Given the description of an element on the screen output the (x, y) to click on. 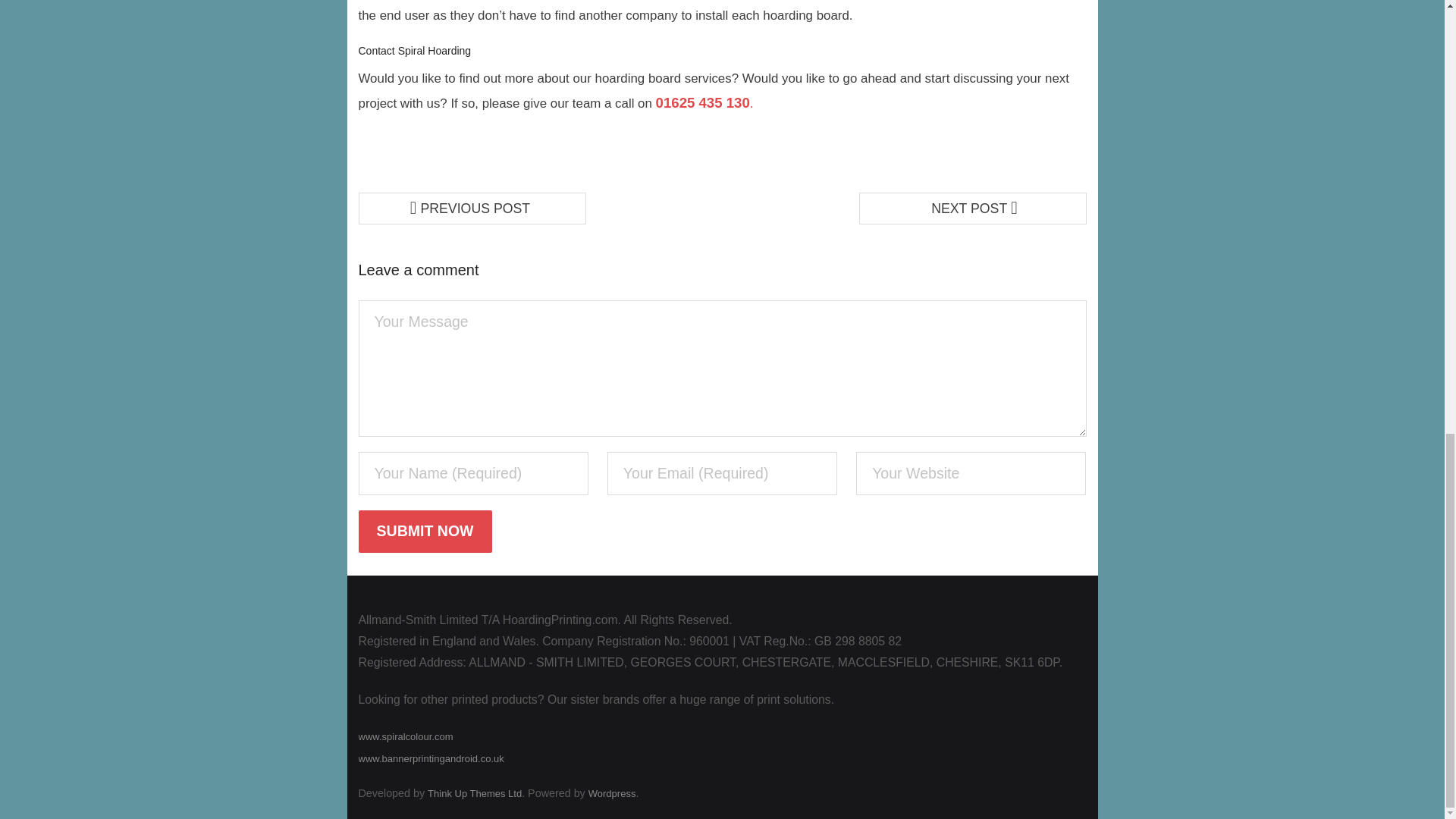
NEXT POST (972, 208)
01625 435 130. (705, 102)
Submit Now (425, 531)
PREVIOUS POST (471, 208)
www.spiralcolour.com (405, 736)
Think Up Themes Ltd (474, 793)
Wordpress (612, 793)
Submit Now (425, 531)
www.bannerprintingandroid.co.uk (430, 758)
